Given the description of an element on the screen output the (x, y) to click on. 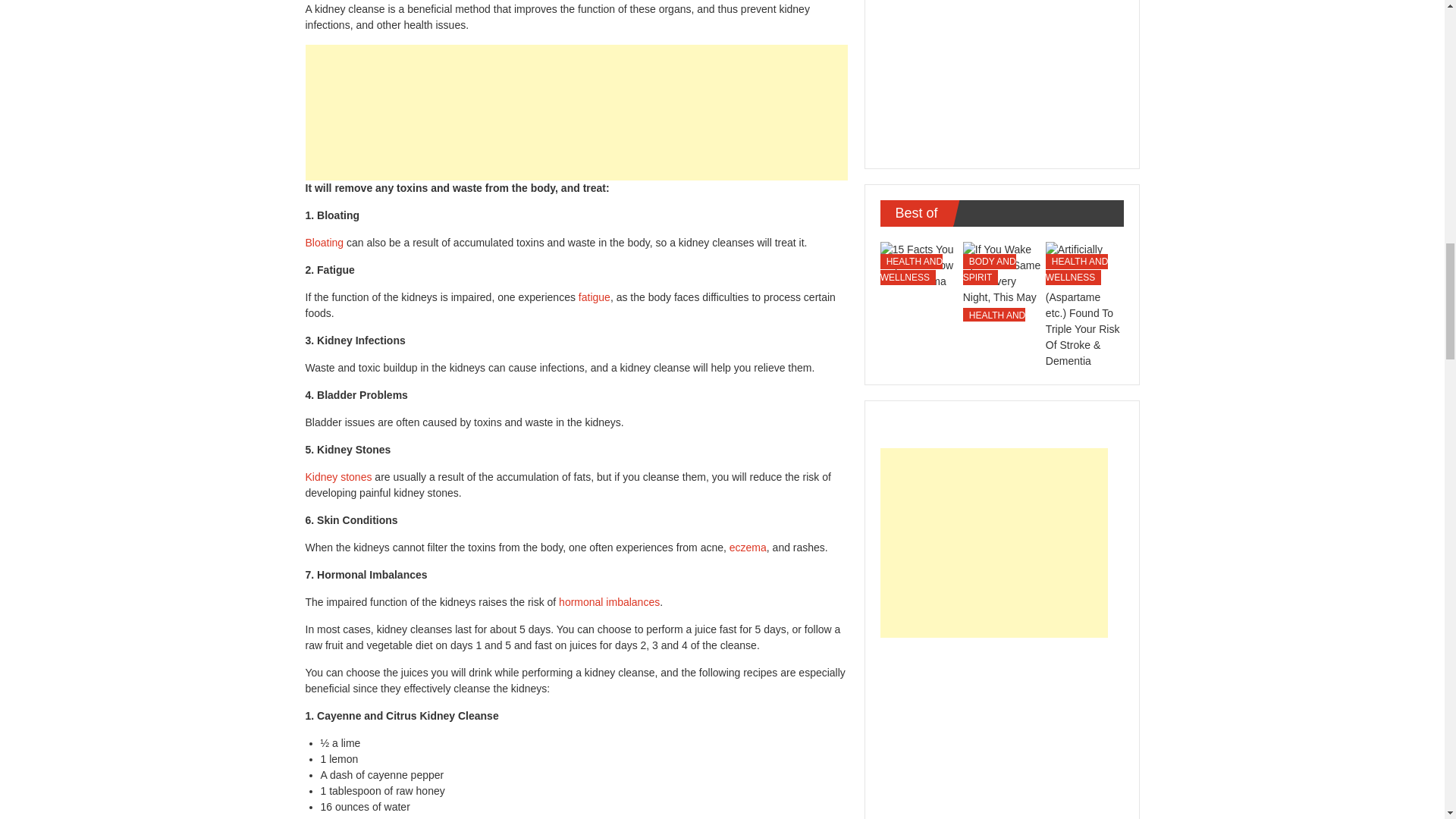
Bloating (323, 242)
fatigue (594, 297)
Kidney stones (337, 476)
hormonal imbalances (609, 602)
eczema (748, 547)
